Given the description of an element on the screen output the (x, y) to click on. 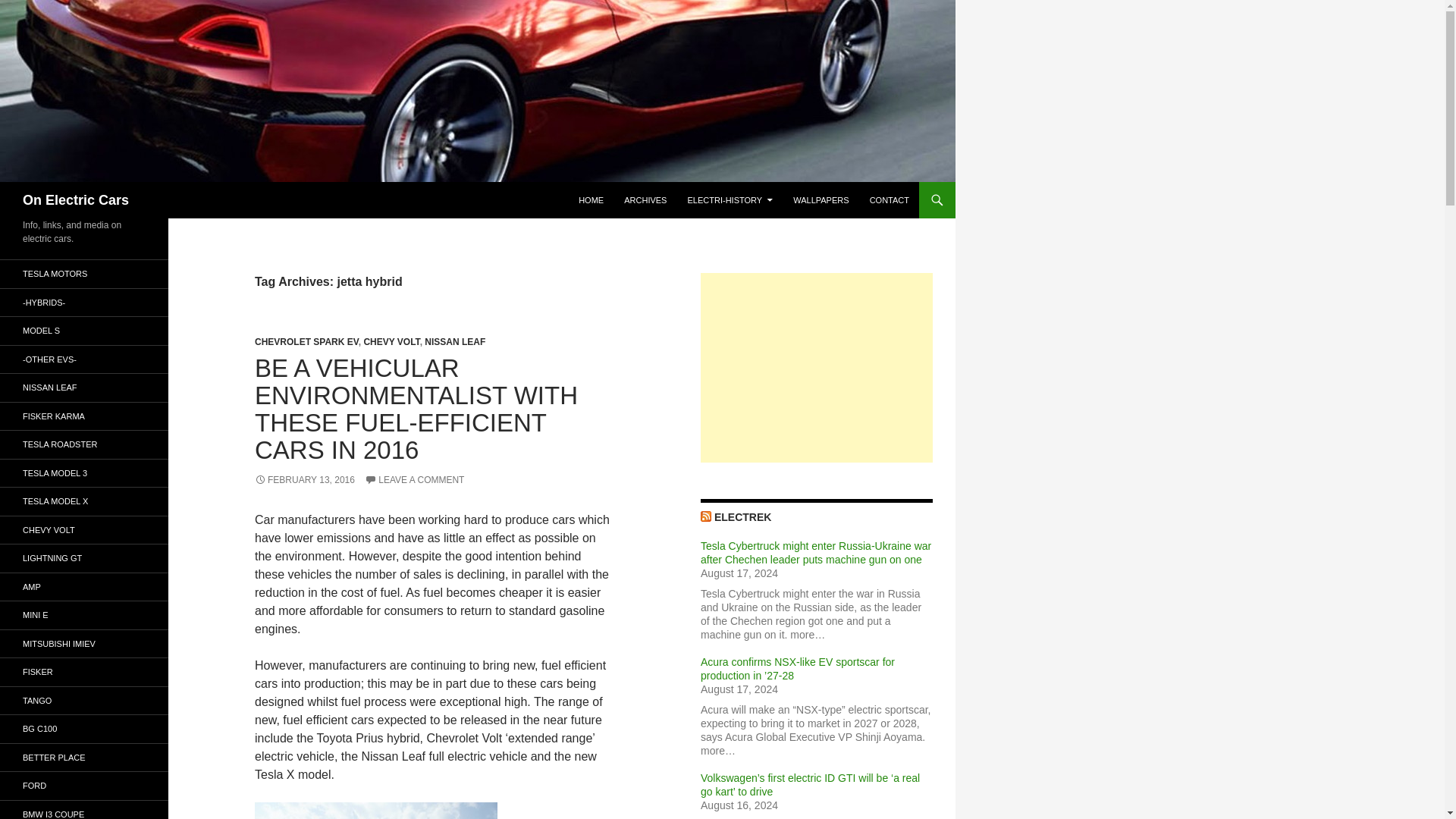
FEBRUARY 13, 2016 (304, 480)
WALLPAPERS (820, 199)
CHEVROLET SPARK EV (306, 341)
CONTACT (889, 199)
CHEVY VOLT (390, 341)
ELECTRI-HISTORY (730, 199)
ELECTREK (742, 517)
Advertisement (816, 367)
